Given the description of an element on the screen output the (x, y) to click on. 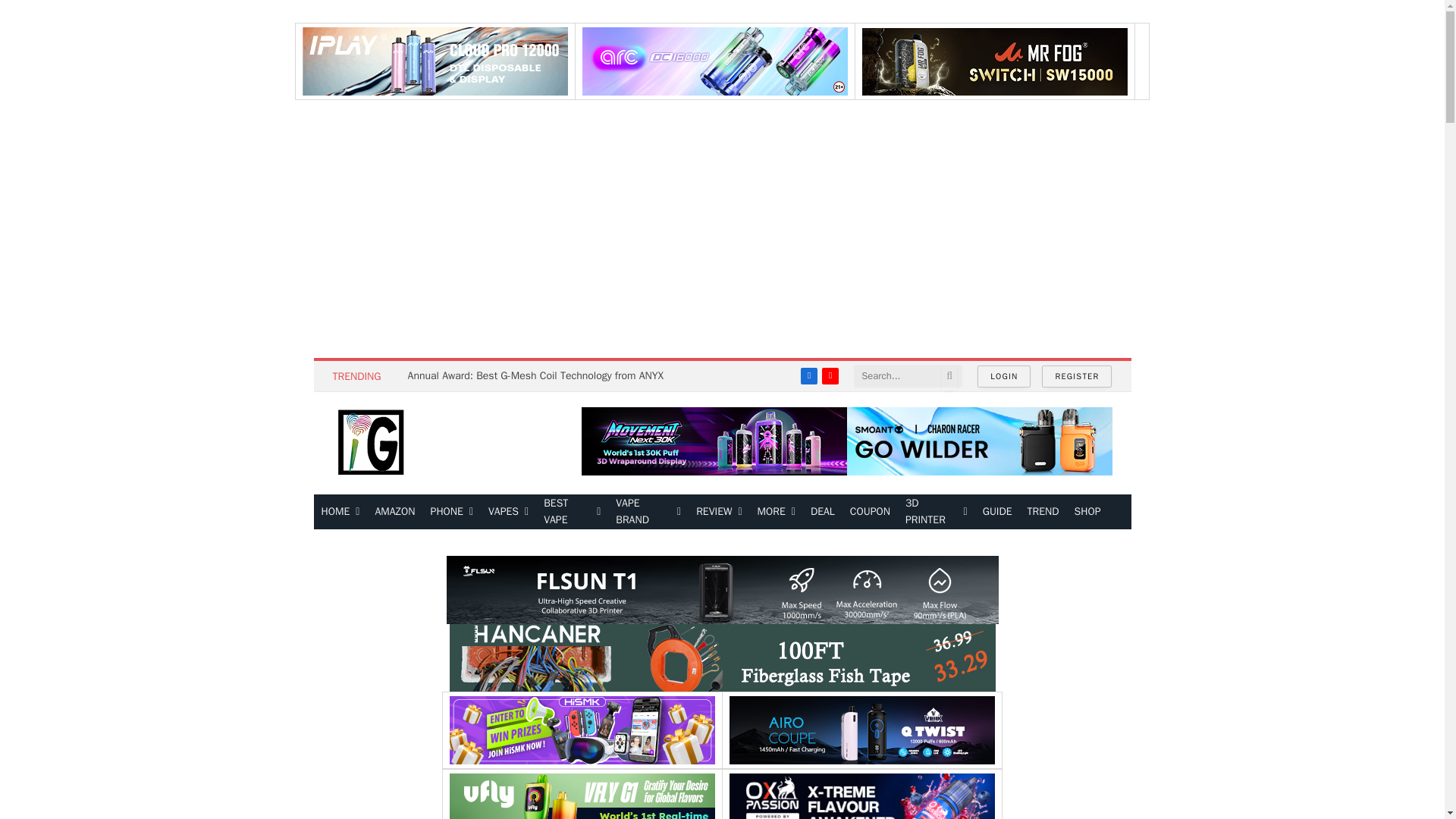
Facebook (808, 375)
HOME (341, 511)
REGISTER (1077, 376)
AMAZON (394, 511)
LOGIN (1003, 376)
PHONE (451, 511)
YouTube (830, 375)
Annual Award: Best G-Mesh Coil Technology from ANYX (539, 376)
